Given the description of an element on the screen output the (x, y) to click on. 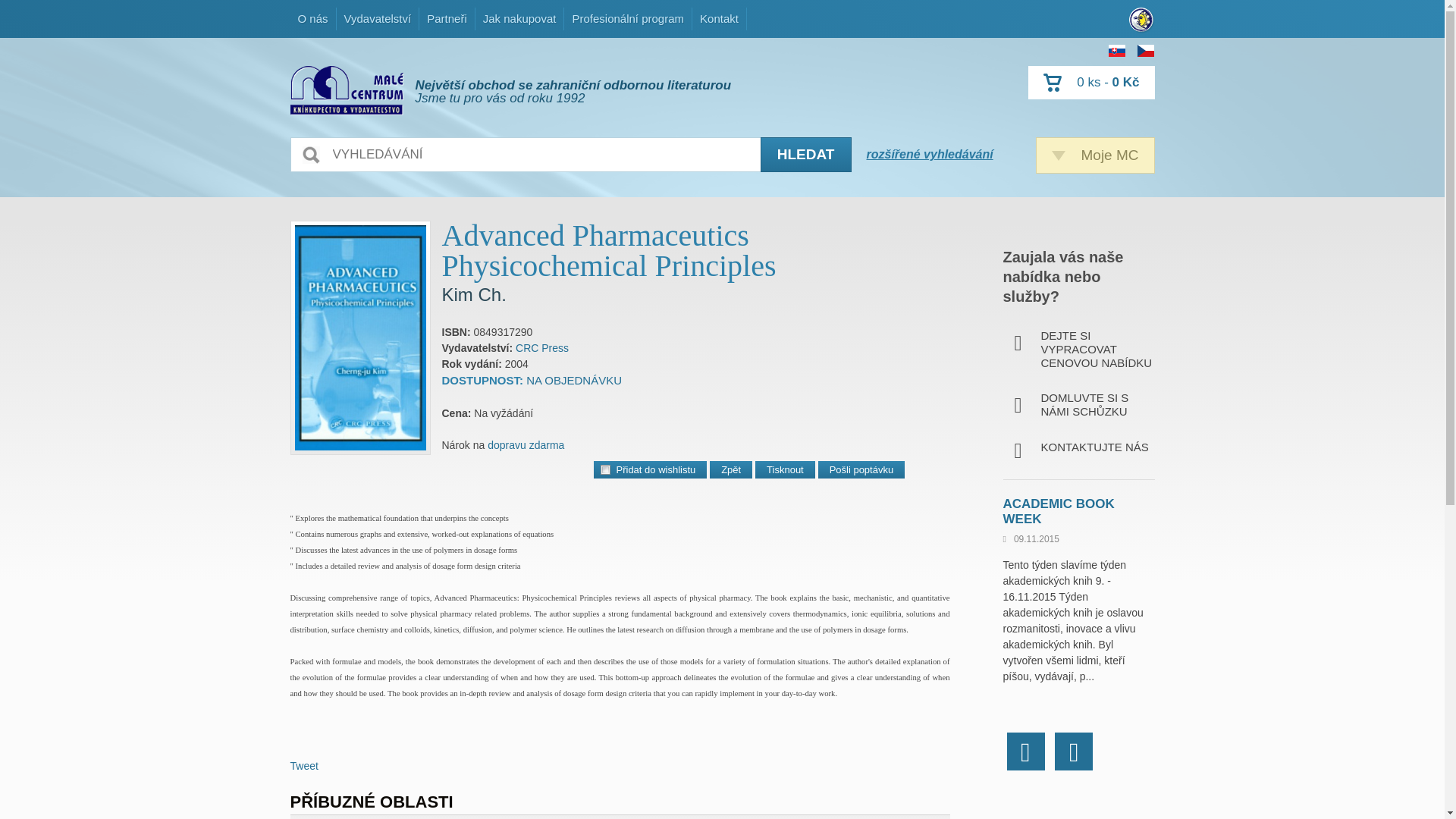
Jak nakupovat (519, 18)
Hledat (805, 154)
Hledat (805, 154)
CRC Press (542, 347)
dopravu zdarma (525, 444)
Twitter (1073, 751)
Hledat (805, 154)
Kontakt (719, 18)
Facebook (1026, 751)
Hledat (805, 154)
